Given the description of an element on the screen output the (x, y) to click on. 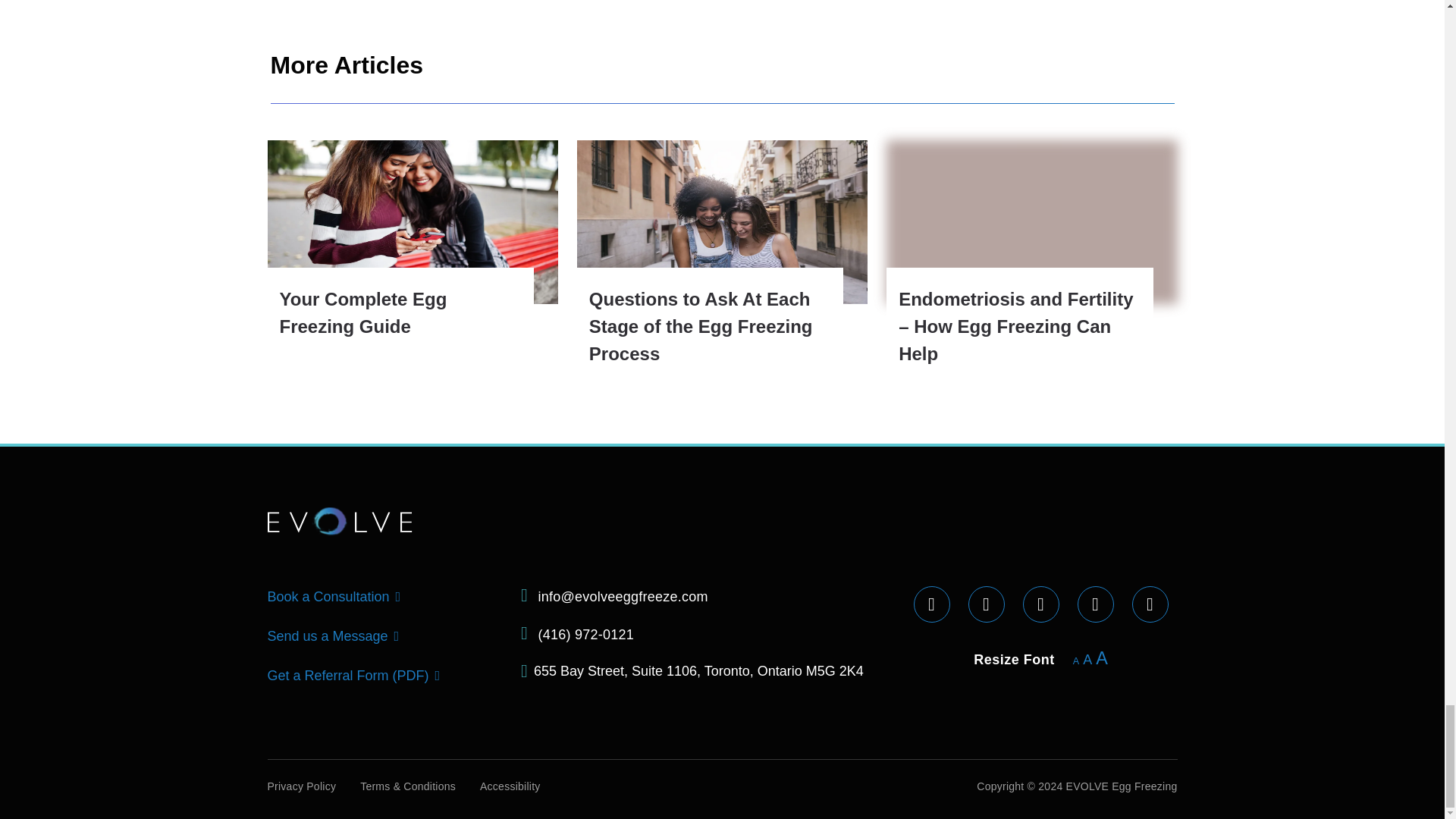
Download referral form PDF (435, 675)
Email Evolve (524, 595)
Evolve YouTube Page (1095, 604)
Evolve Instagram Page (931, 604)
Address Pin (524, 670)
Send us a Message (393, 635)
Email Evolve (524, 632)
Evolve Facebook Page (986, 604)
Book a Consultation (395, 596)
Evolve Pinterest Page (1150, 604)
Evolve TikTok Page (1039, 604)
